Given the description of an element on the screen output the (x, y) to click on. 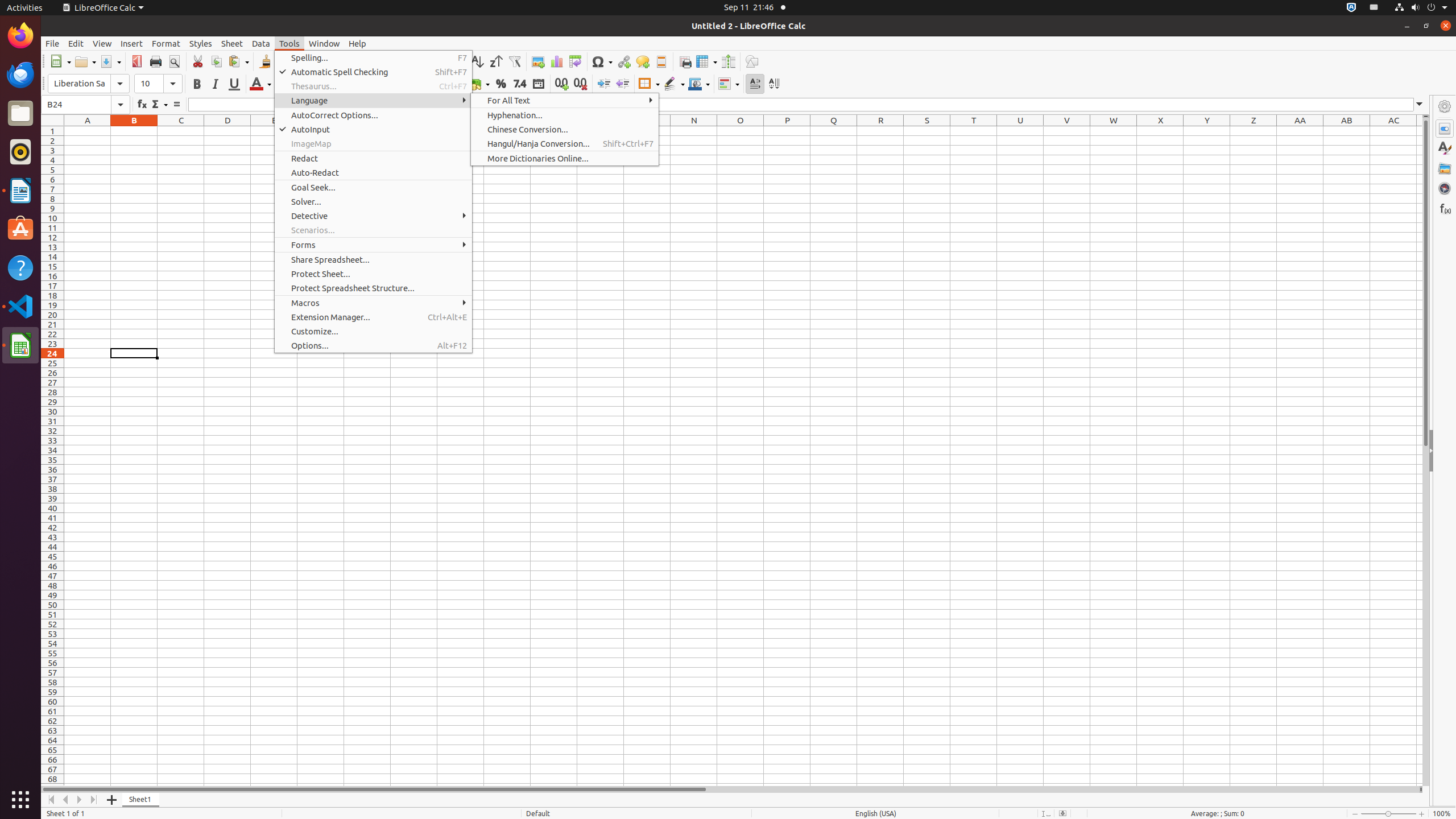
Copy Element type: push-button (216, 61)
Paste Element type: push-button (237, 61)
Y1 Element type: table-cell (1206, 130)
Macros Element type: menu (373, 302)
Properties Element type: radio-button (1444, 128)
